Given the description of an element on the screen output the (x, y) to click on. 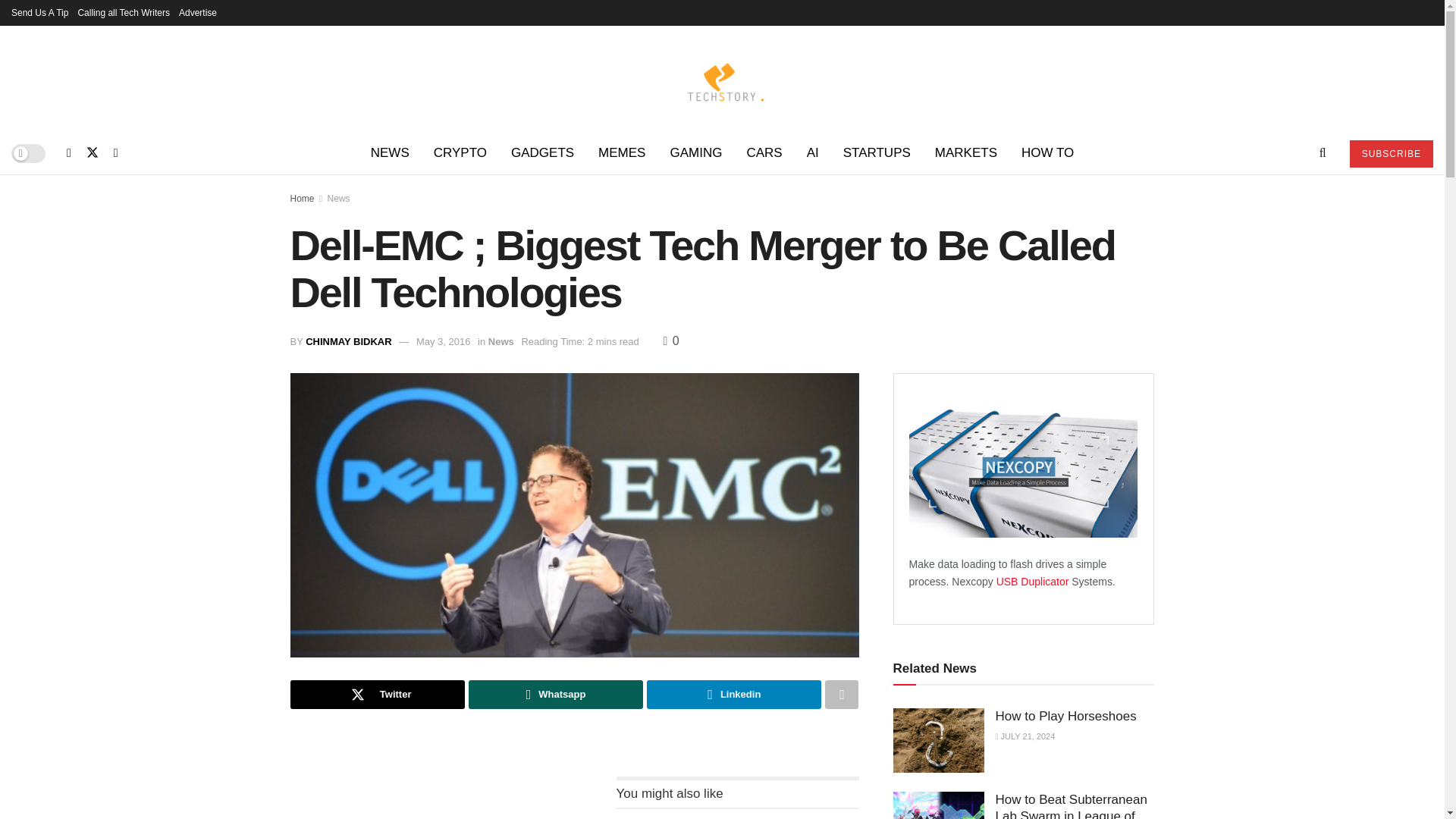
News (338, 198)
CHINMAY BIDKAR (348, 341)
CRYPTO (460, 152)
SUBSCRIBE (1390, 153)
MEMES (622, 152)
STARTUPS (877, 152)
USB duplicator (1033, 581)
MARKETS (966, 152)
Calling all Tech Writers (123, 12)
GAMING (695, 152)
Advertise (197, 12)
HOW TO (1047, 152)
NEWS (390, 152)
Send Us A Tip (39, 12)
Home (301, 198)
